Given the description of an element on the screen output the (x, y) to click on. 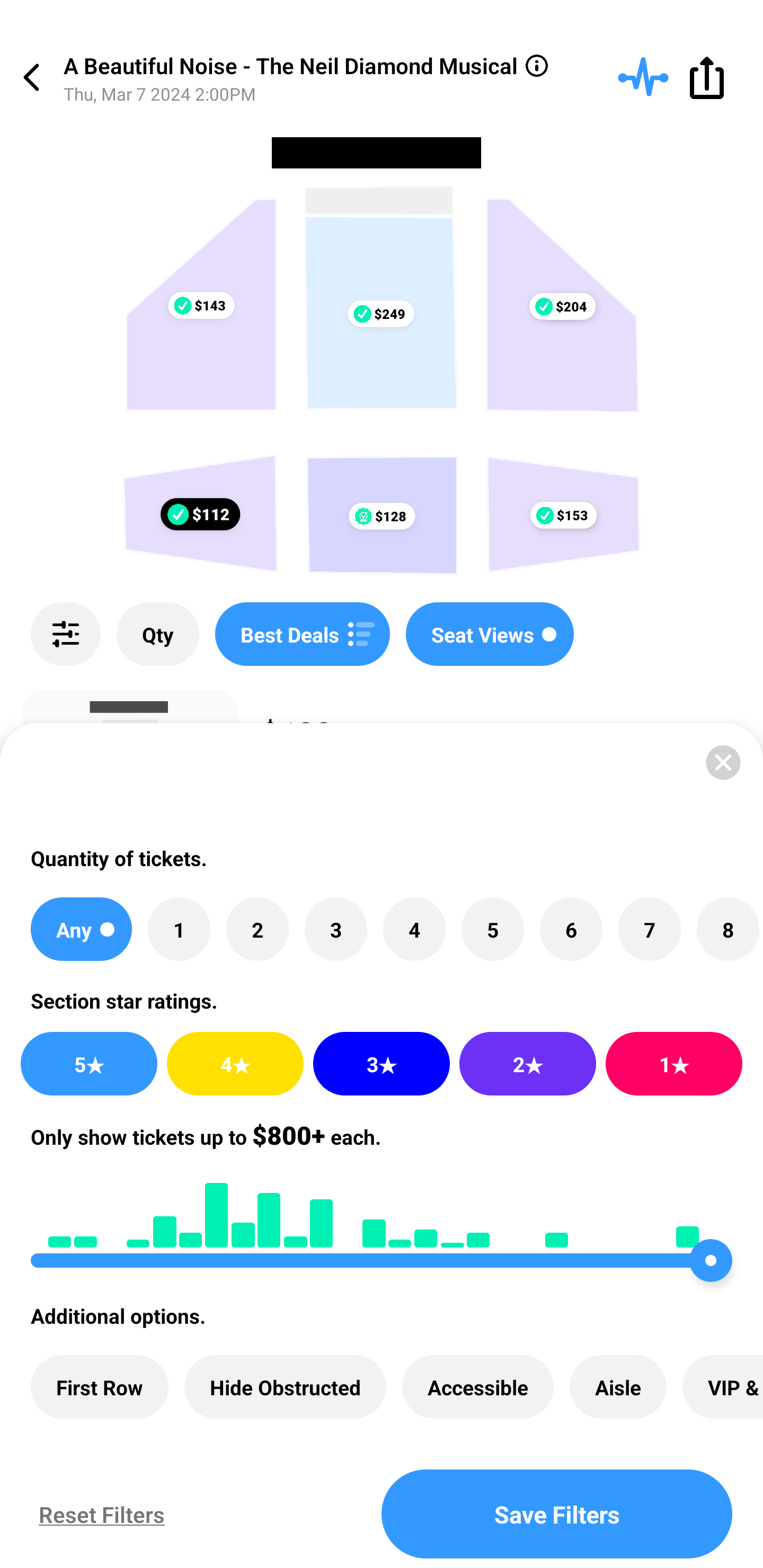
Any (80, 928)
1 (179, 928)
2 (257, 928)
3 (335, 928)
4 (414, 928)
5 (492, 928)
6 (571, 928)
7 (649, 928)
8 (727, 928)
5★ (88, 1063)
4★ (235, 1063)
3★ (381, 1063)
2★ (527, 1063)
1★ (673, 1063)
First Row (99, 1386)
Hide Obstructed (285, 1386)
Accessible (477, 1386)
Aisle (617, 1386)
Save Filters (556, 1513)
Reset Filters (97, 1513)
